Given the description of an element on the screen output the (x, y) to click on. 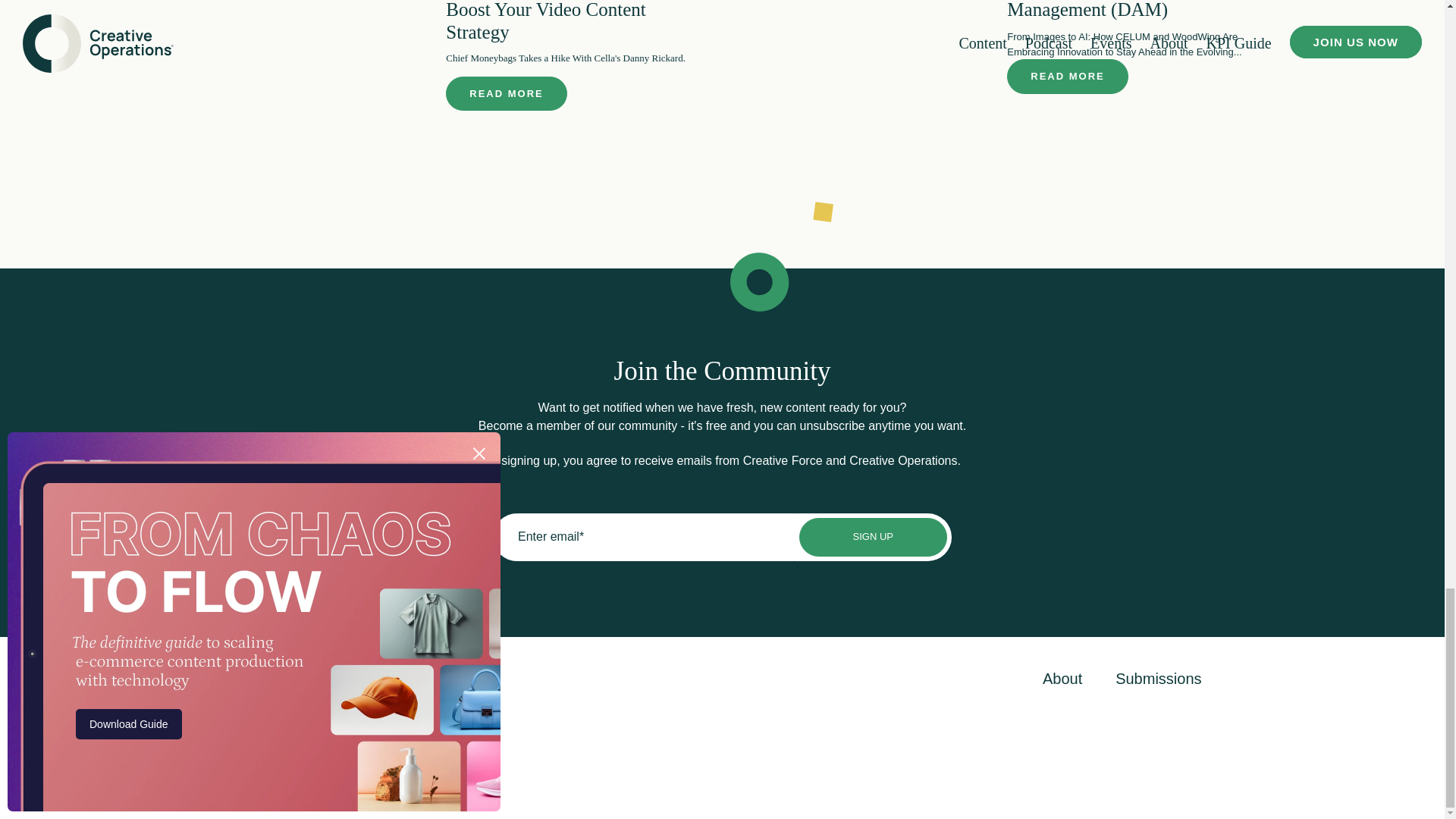
About (1061, 678)
READ MORE (505, 93)
Sign Up (873, 536)
Sign Up (873, 536)
Try These 5 Proven Tips to Boost Your Video Content Strategy (548, 21)
READ MORE (1066, 76)
Submissions (1158, 678)
